Given the description of an element on the screen output the (x, y) to click on. 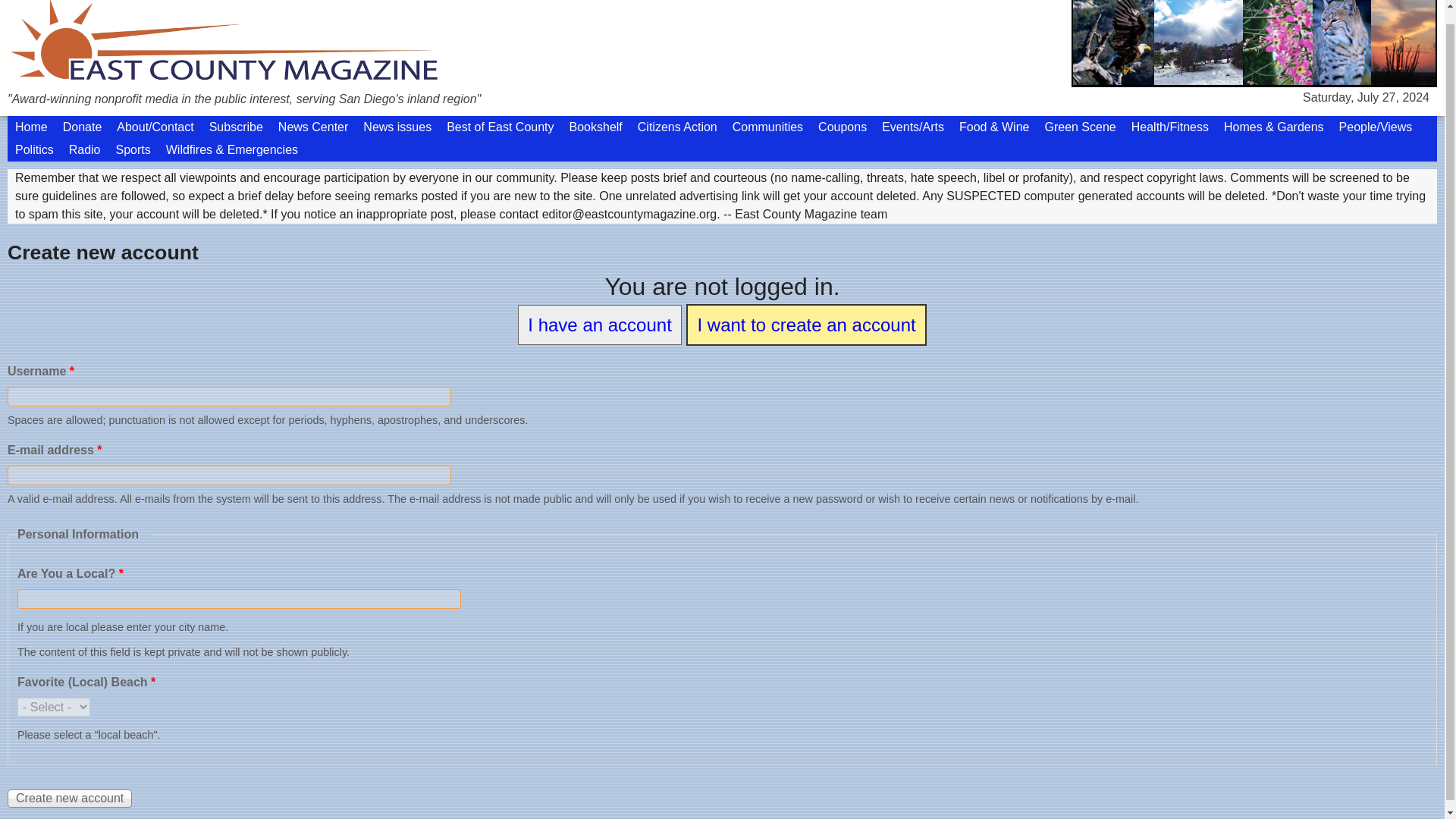
Subscribe (236, 127)
Donate (82, 127)
Home (31, 127)
News Center (312, 127)
Best of East County (499, 127)
Create new account (69, 798)
News issues (397, 127)
